Given the description of an element on the screen output the (x, y) to click on. 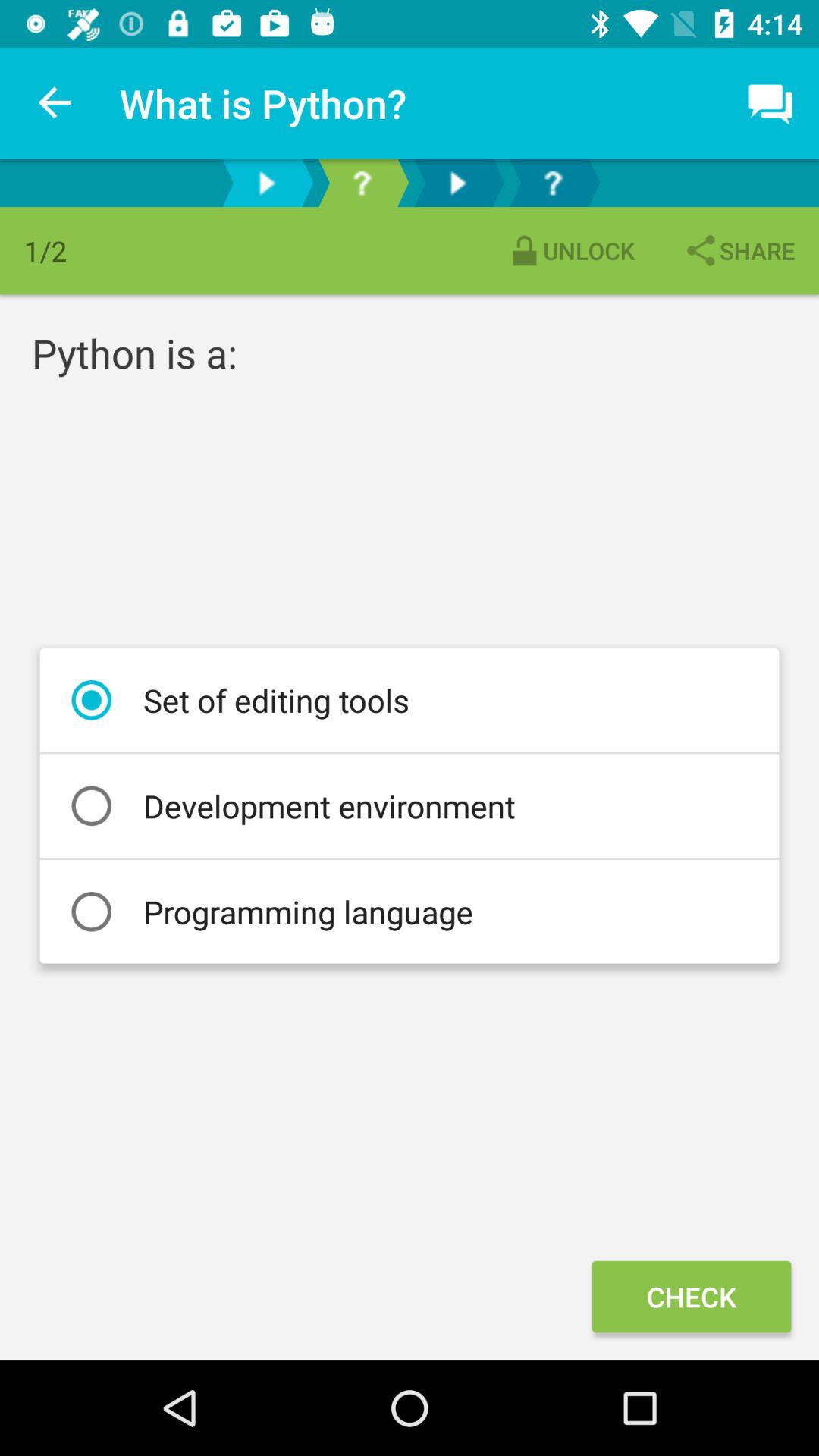
select item to the left of the share item (570, 250)
